Given the description of an element on the screen output the (x, y) to click on. 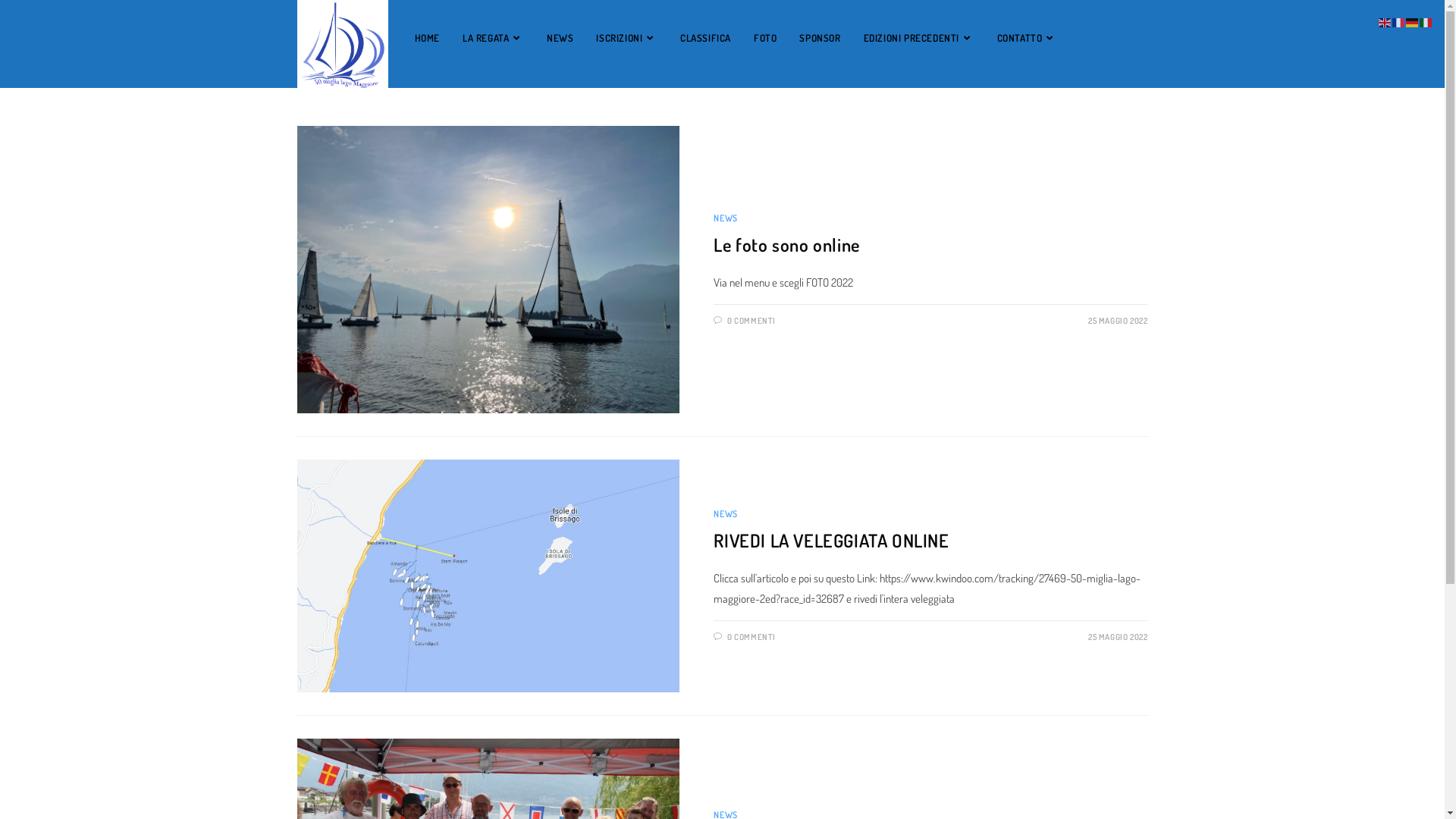
0 COMMENTI Element type: text (751, 320)
SPONSOR Element type: text (819, 37)
German Element type: hover (1412, 21)
RIVEDI LA VELEGGIATA ONLINE Element type: text (830, 540)
Italian Element type: hover (1426, 21)
NEWS Element type: text (725, 217)
English Element type: hover (1385, 21)
CLASSIFICA Element type: text (705, 37)
0 COMMENTI Element type: text (751, 636)
NEWS Element type: text (559, 37)
NEWS Element type: text (725, 513)
Le foto sono online Element type: text (786, 244)
EDIZIONI PRECEDENTI Element type: text (918, 37)
LA REGATA Element type: text (493, 37)
FOTO Element type: text (764, 37)
CONTATTO Element type: text (1026, 37)
French Element type: hover (1398, 21)
ISCRIZIONI Element type: text (626, 37)
HOME Element type: text (427, 37)
